Given the description of an element on the screen output the (x, y) to click on. 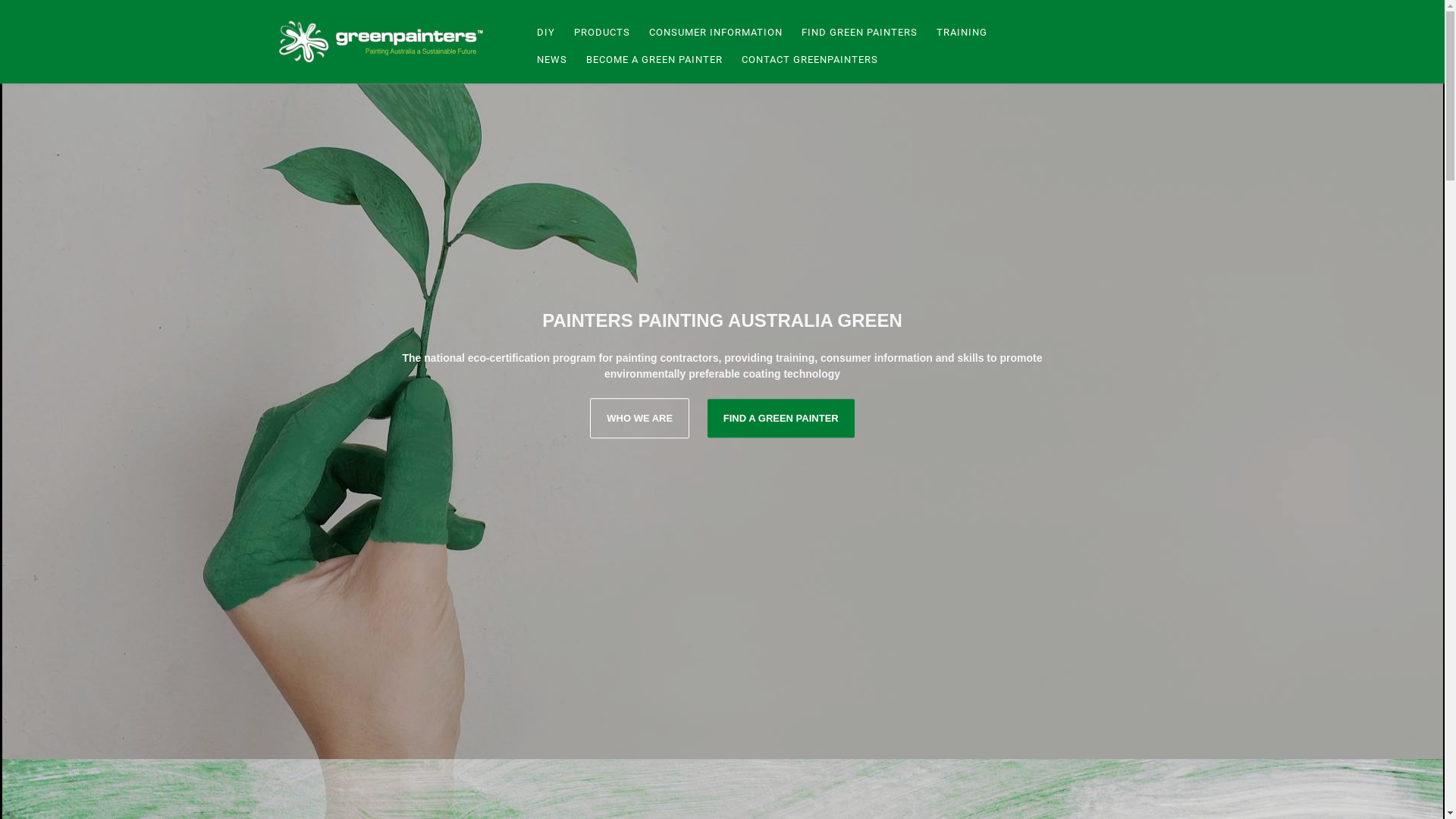
NEWS Element type: text (549, 59)
CONSUMER INFORMATION Element type: text (713, 32)
TRAINING Element type: text (959, 32)
BECOME A GREEN PAINTER Element type: text (652, 59)
FIND A GREEN PAINTER Element type: text (780, 417)
Green Painters Element type: text (385, 41)
PRODUCTS Element type: text (599, 32)
FIND GREEN PAINTERS Element type: text (857, 32)
CONTACT GREENPAINTERS Element type: text (806, 59)
WHO WE ARE Element type: text (639, 418)
DIY Element type: text (542, 32)
